Given the description of an element on the screen output the (x, y) to click on. 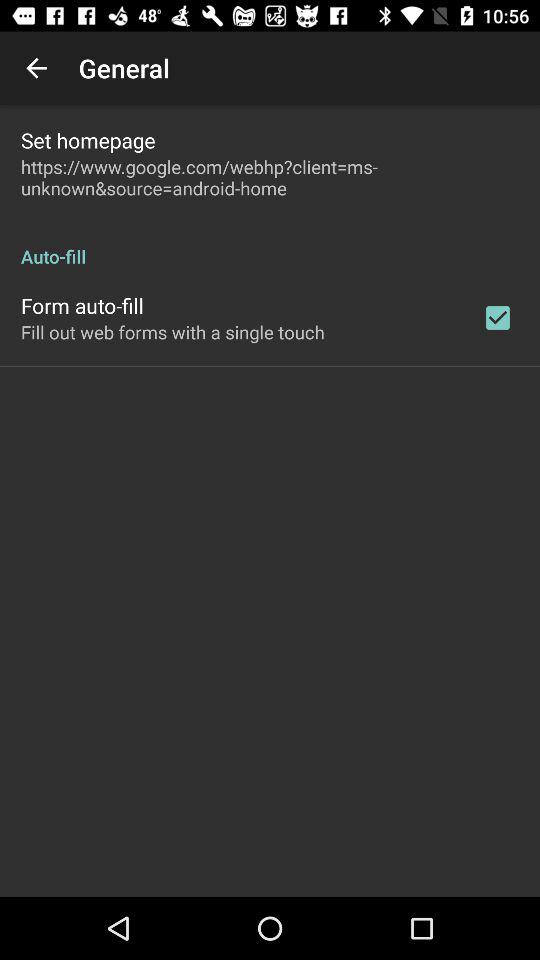
launch the item to the right of fill out web (497, 317)
